Given the description of an element on the screen output the (x, y) to click on. 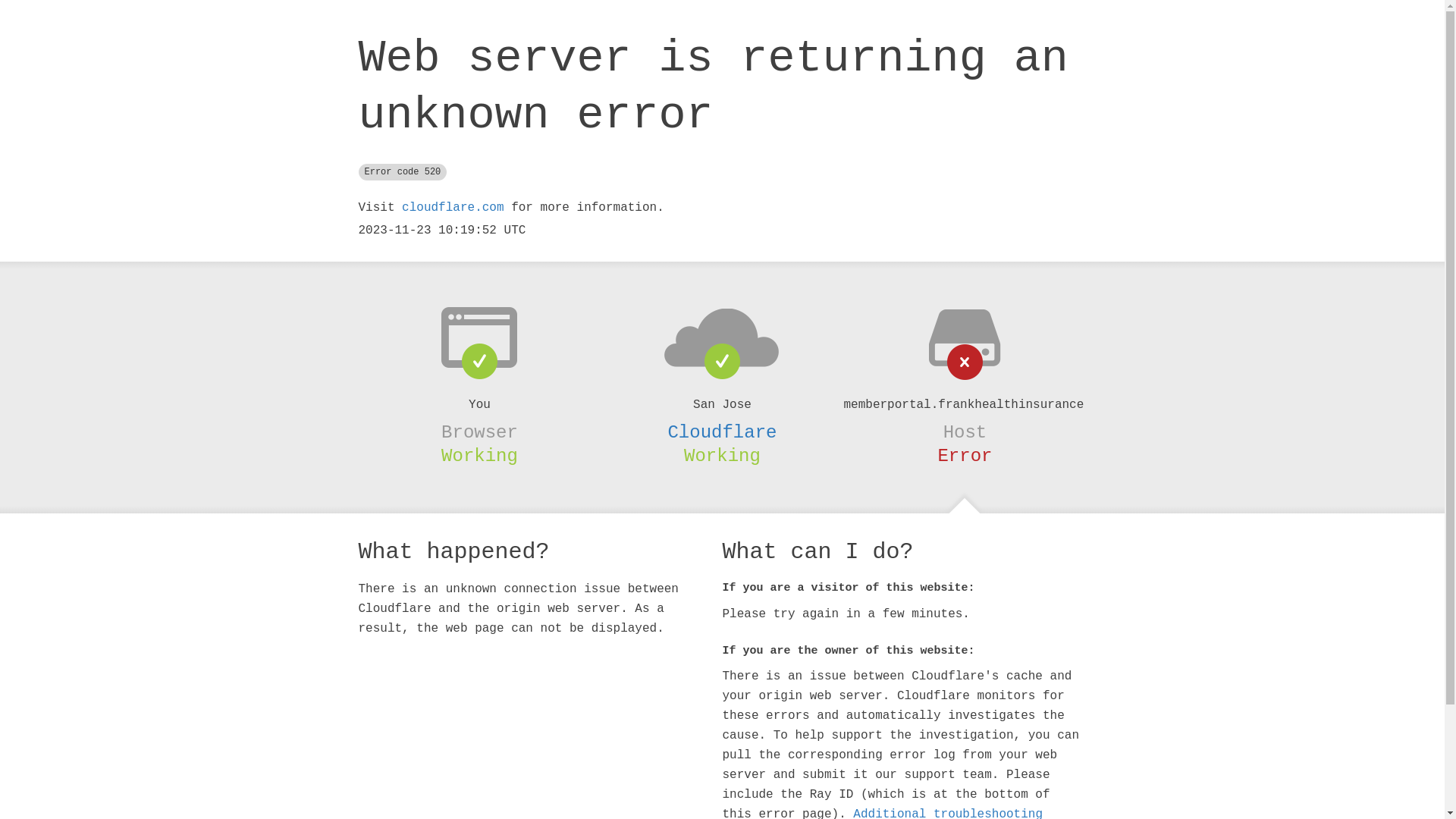
cloudflare.com Element type: text (452, 207)
Cloudflare Element type: text (721, 432)
